Given the description of an element on the screen output the (x, y) to click on. 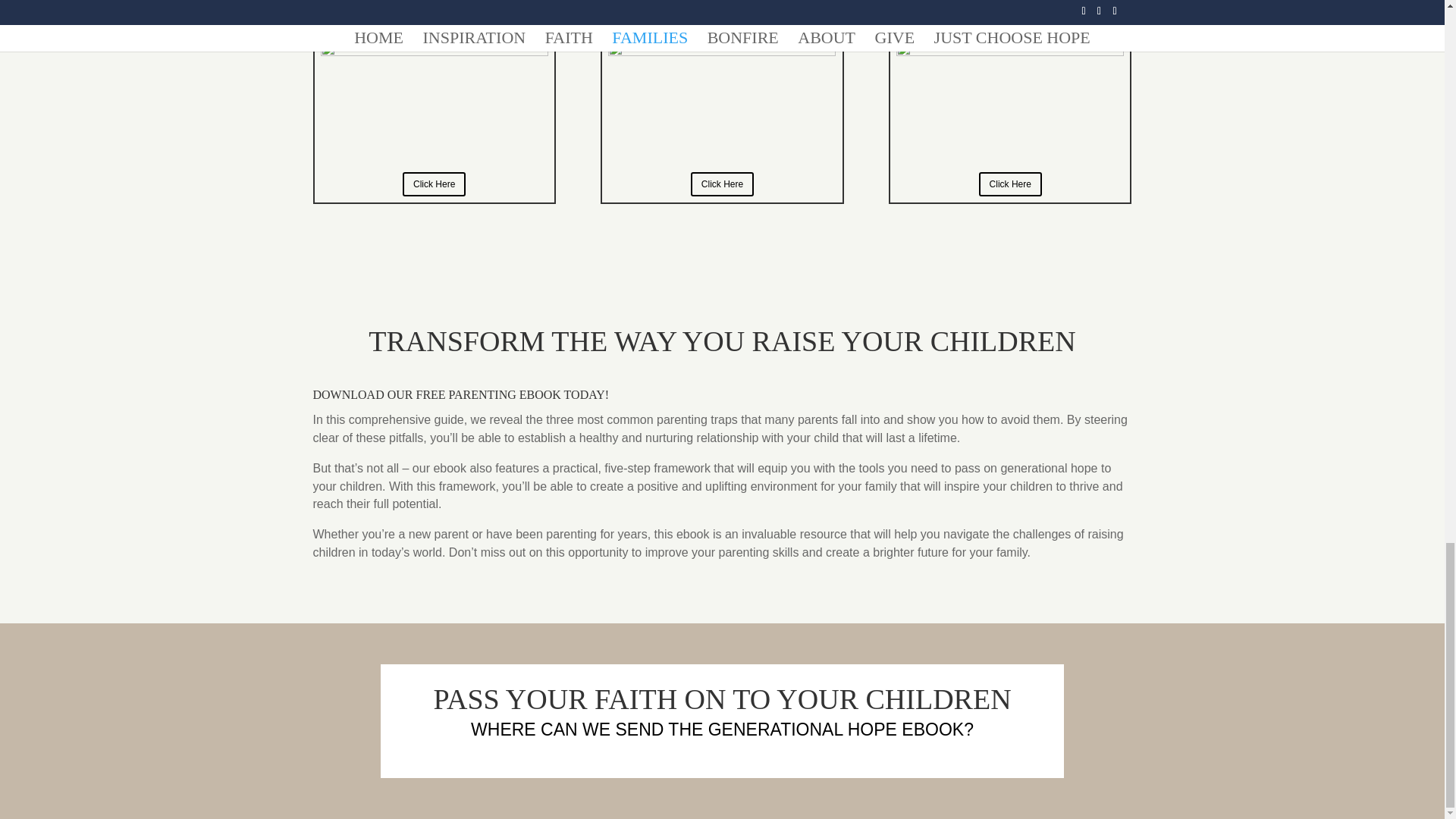
Click Here (434, 183)
Click Here (1010, 183)
Click Here (722, 183)
